Given the description of an element on the screen output the (x, y) to click on. 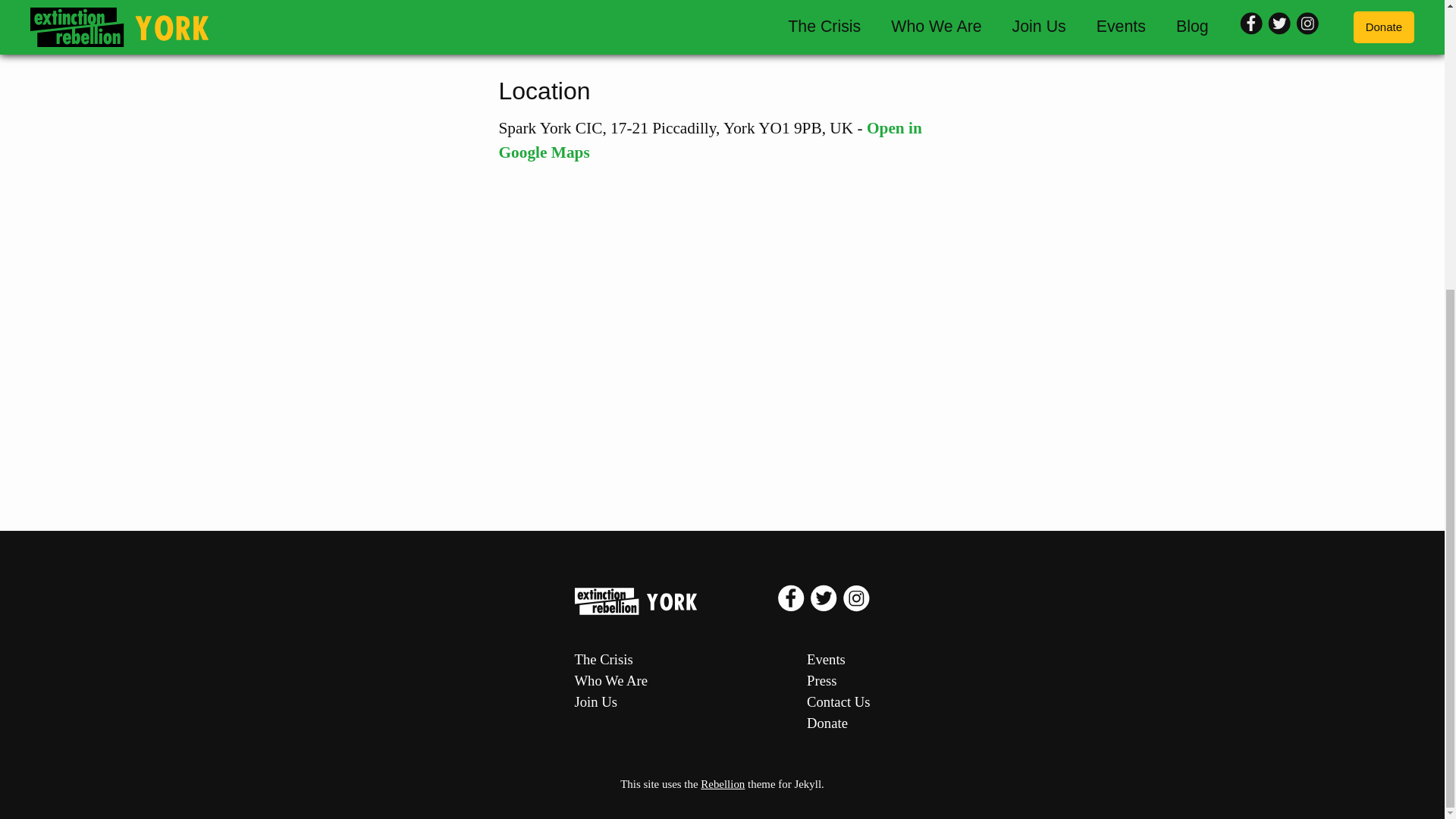
Instagram (855, 607)
Join Us (611, 701)
Donate (837, 722)
Twitter (825, 607)
Rebellion (722, 784)
Who We Are (611, 680)
Extinction Rebellion York (676, 601)
Open in Google Maps (710, 139)
Events (837, 659)
Facebook (792, 607)
The Crisis (611, 659)
Press (837, 680)
Contact Us (837, 701)
